Given the description of an element on the screen output the (x, y) to click on. 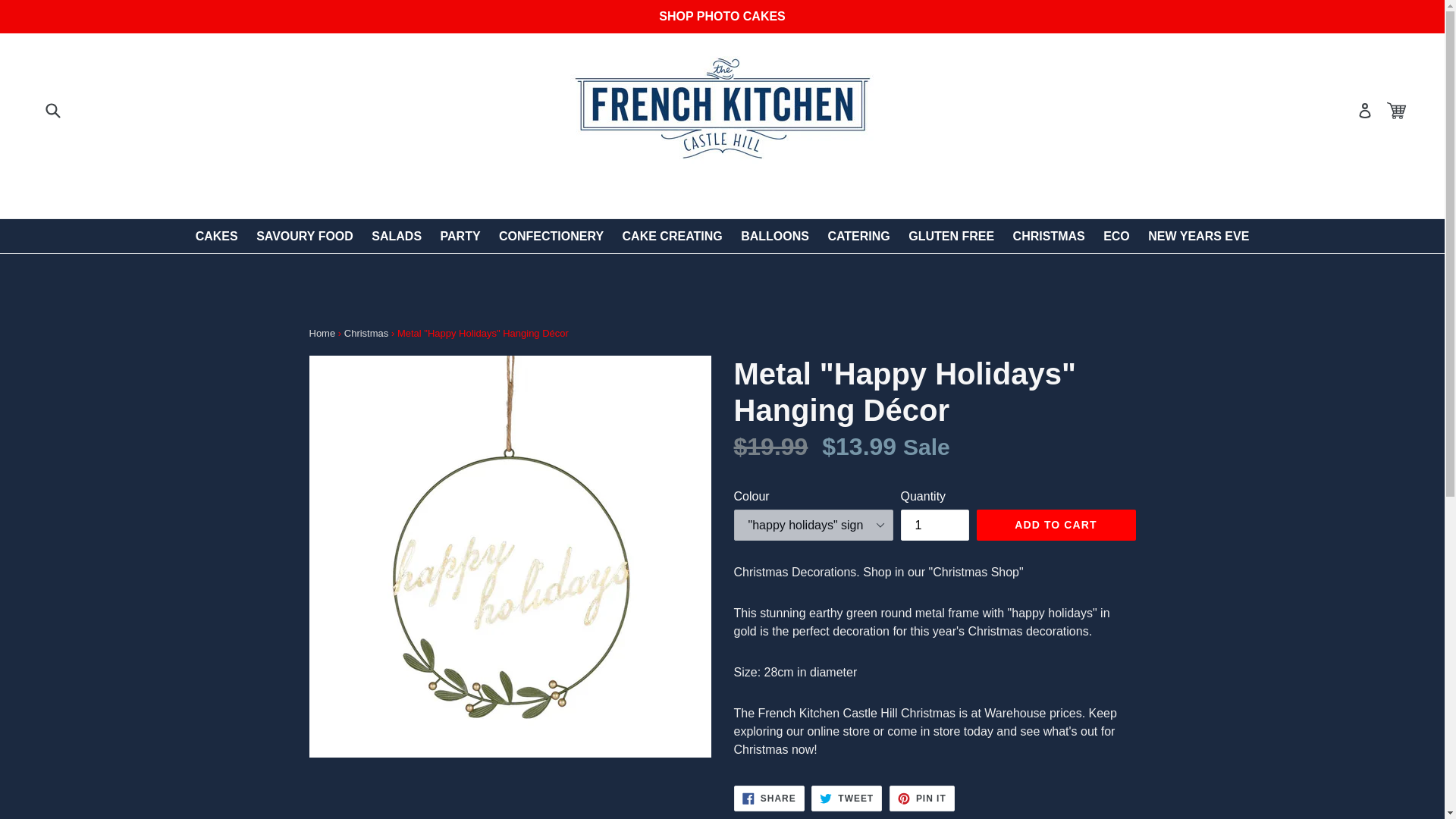
NEW YEARS EVE (1198, 235)
CATERING (857, 235)
GLUTEN FREE (951, 235)
PARTY (459, 235)
CAKE CREATING (672, 235)
ADD TO CART (1055, 525)
ECO (1116, 235)
SALADS (396, 235)
Tweet on Twitter (846, 798)
BALLOONS (774, 235)
Home (322, 333)
Share on Facebook (769, 798)
Pin on Pinterest (769, 798)
CHRISTMAS (922, 798)
